Given the description of an element on the screen output the (x, y) to click on. 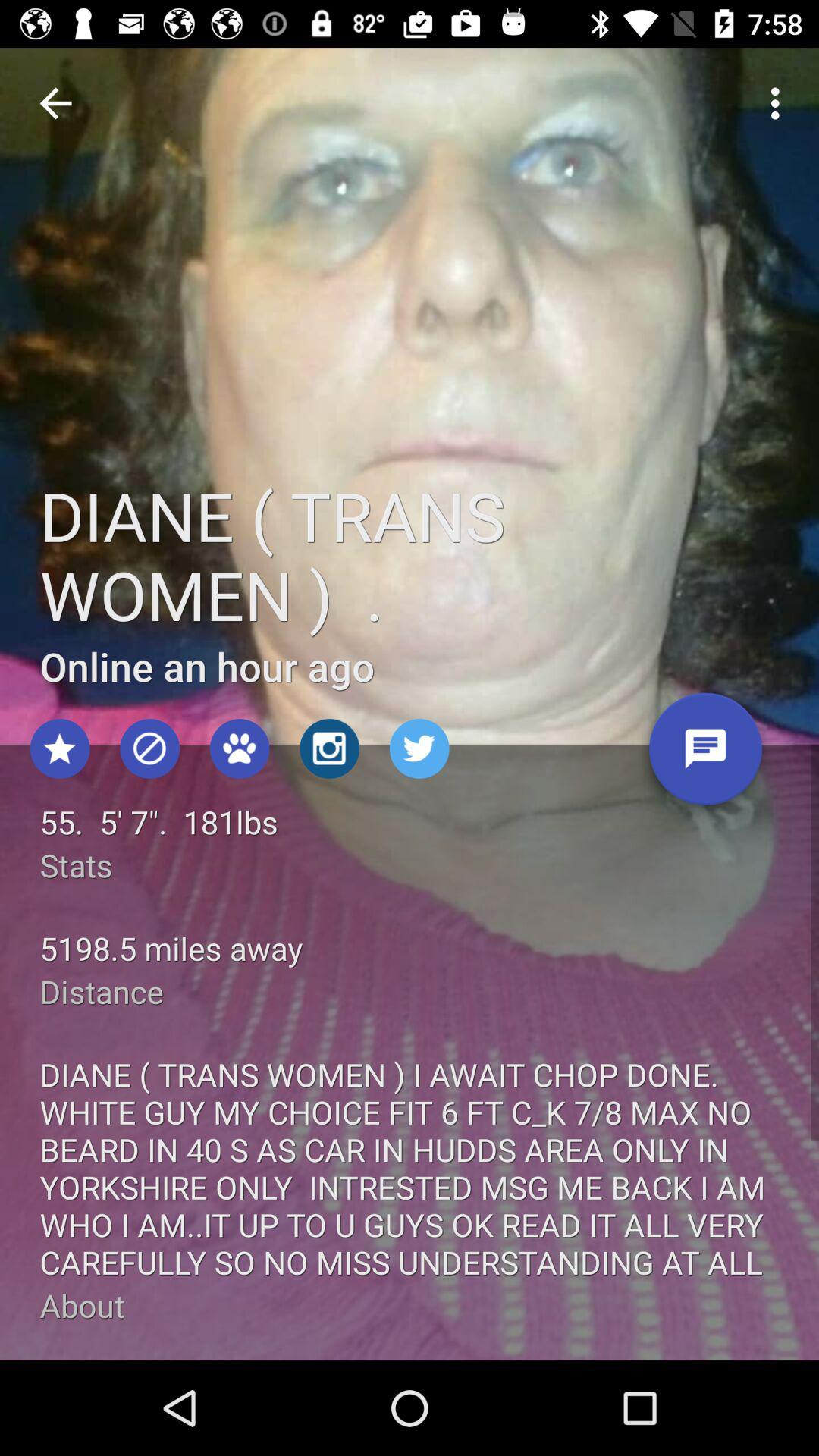
messages the article (705, 754)
